Given the description of an element on the screen output the (x, y) to click on. 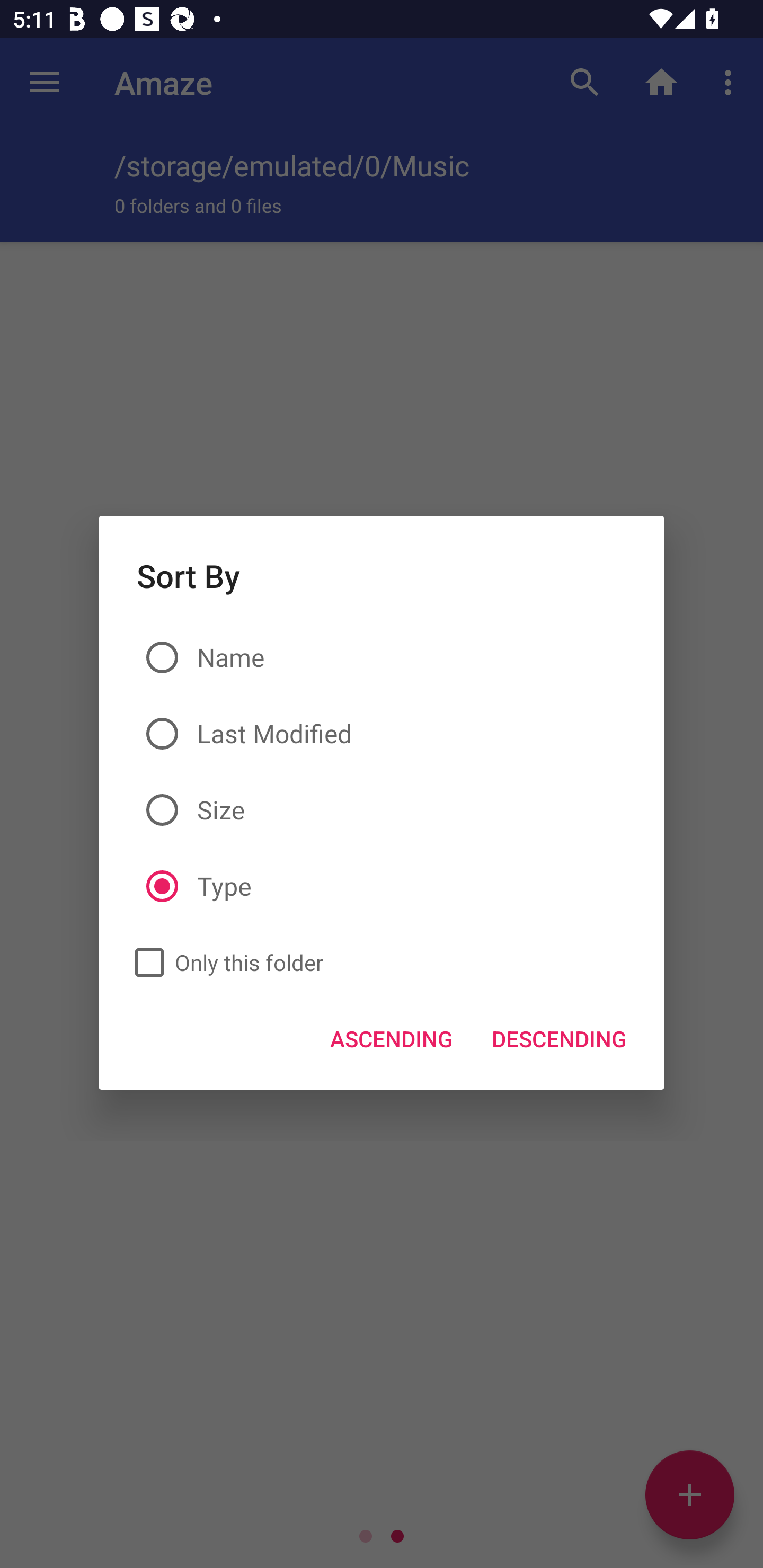
Name (381, 657)
Last Modified (381, 733)
Size (381, 809)
Type (381, 886)
Only this folder (223, 962)
ASCENDING (391, 1038)
DESCENDING (558, 1038)
